Given the description of an element on the screen output the (x, y) to click on. 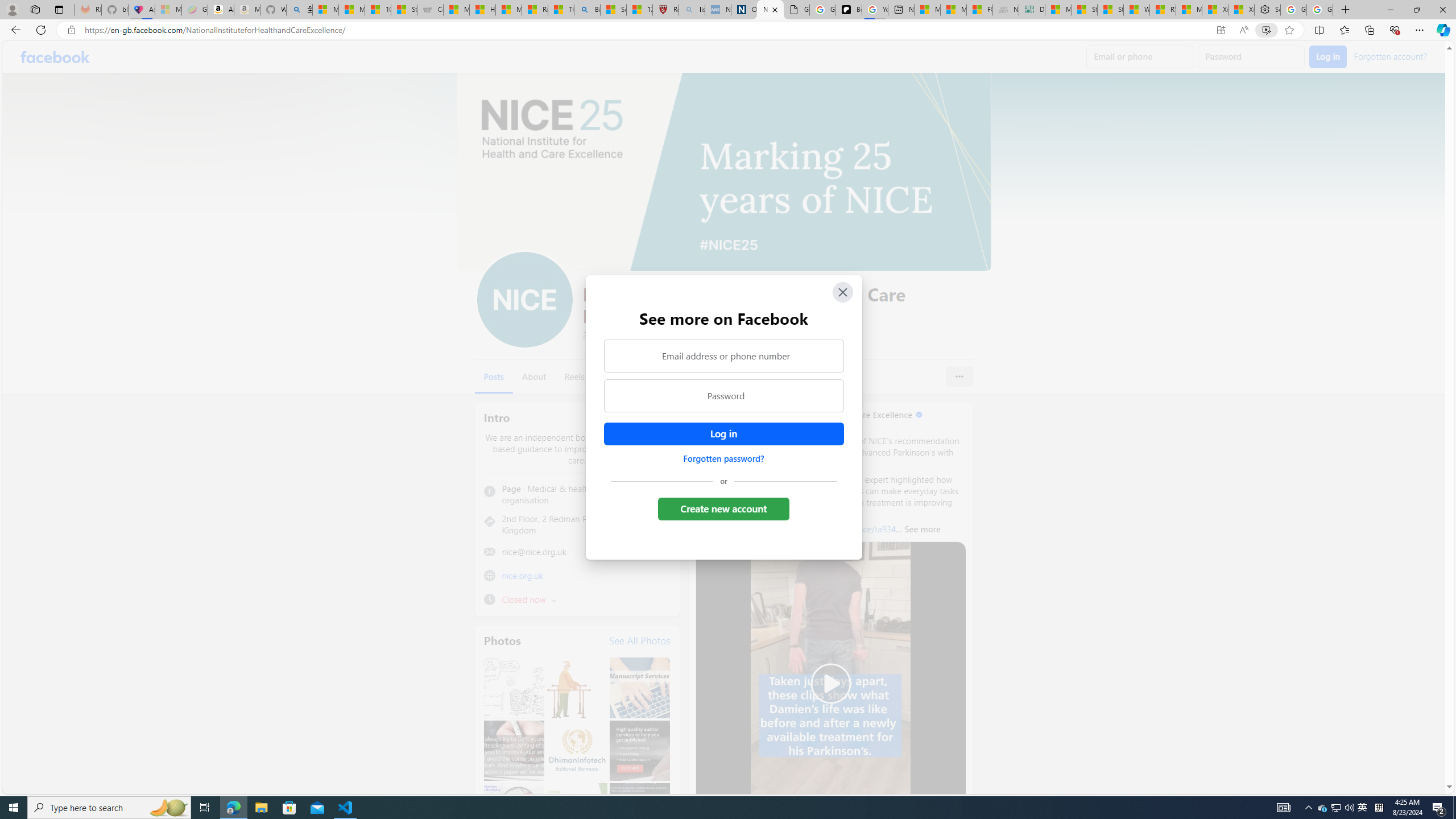
Password (723, 395)
Accessible login button (723, 433)
Bing (587, 9)
Enhance video (1266, 29)
Recipes - MSN (534, 9)
